Given the description of an element on the screen output the (x, y) to click on. 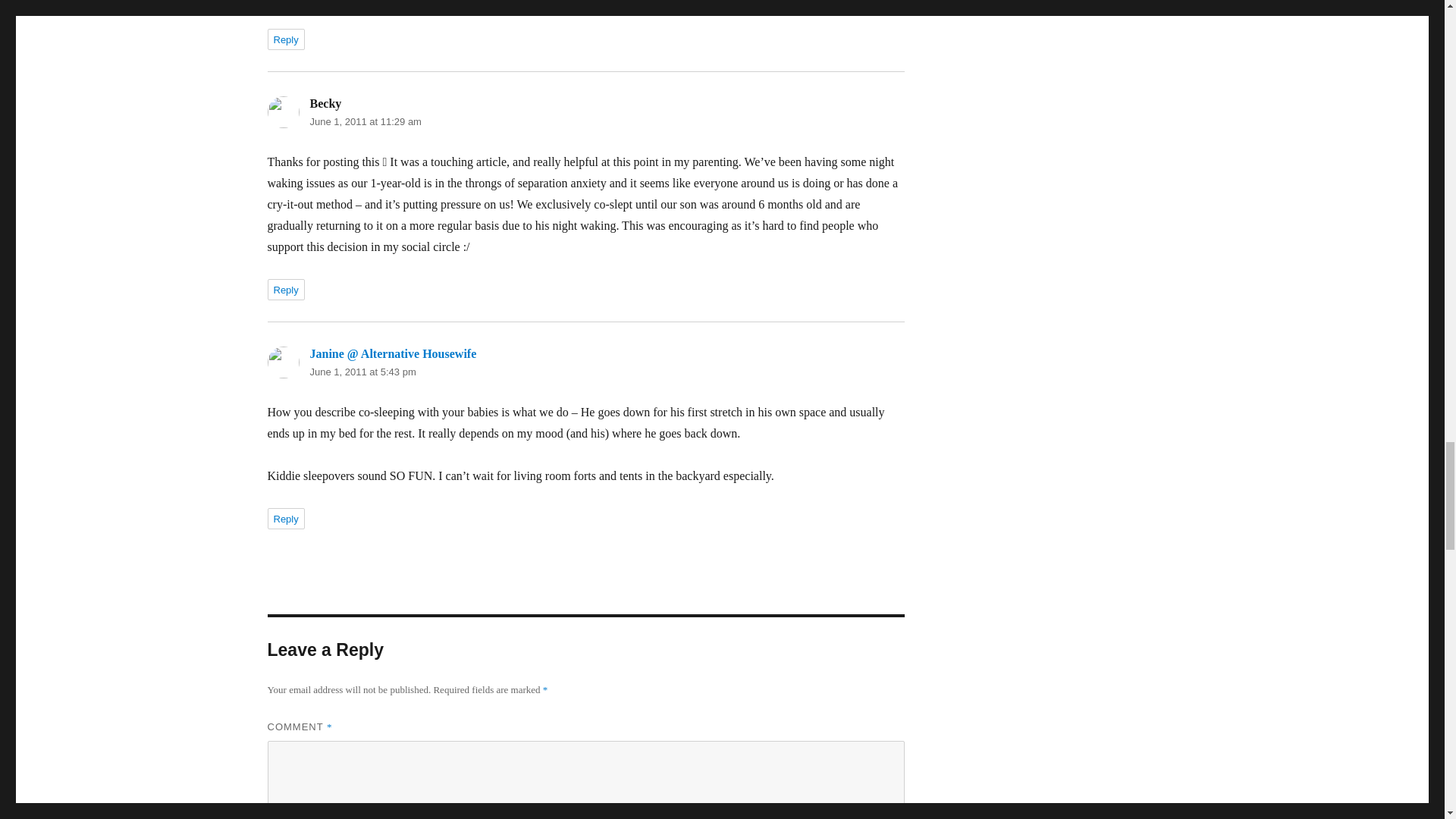
Reply (285, 289)
Reply (285, 518)
Reply (285, 38)
June 1, 2011 at 5:43 pm (361, 371)
June 1, 2011 at 11:29 am (364, 121)
